Given the description of an element on the screen output the (x, y) to click on. 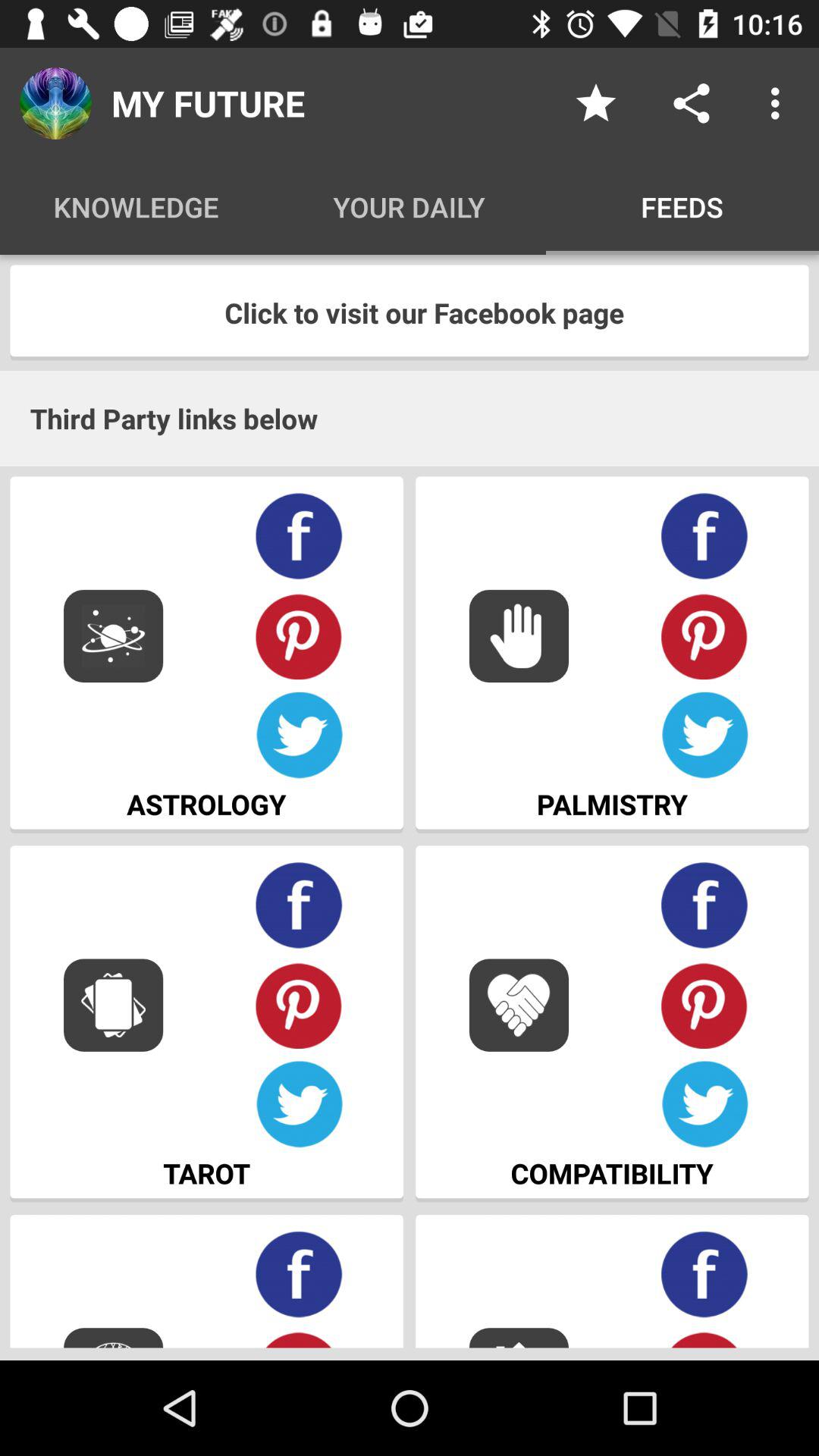
share on pinterest (704, 1005)
